Given the description of an element on the screen output the (x, y) to click on. 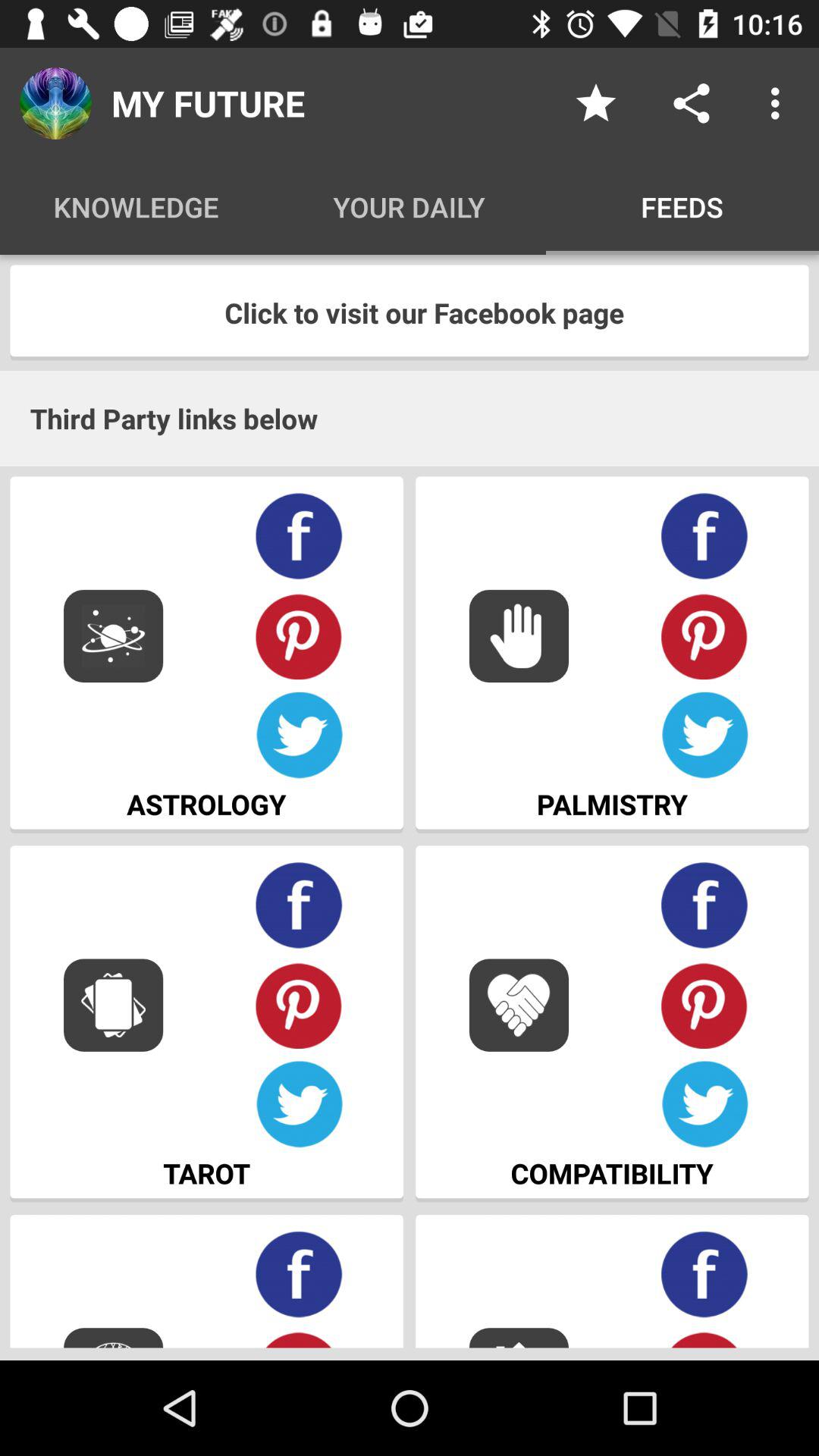
share on pinterest (704, 1005)
